Given the description of an element on the screen output the (x, y) to click on. 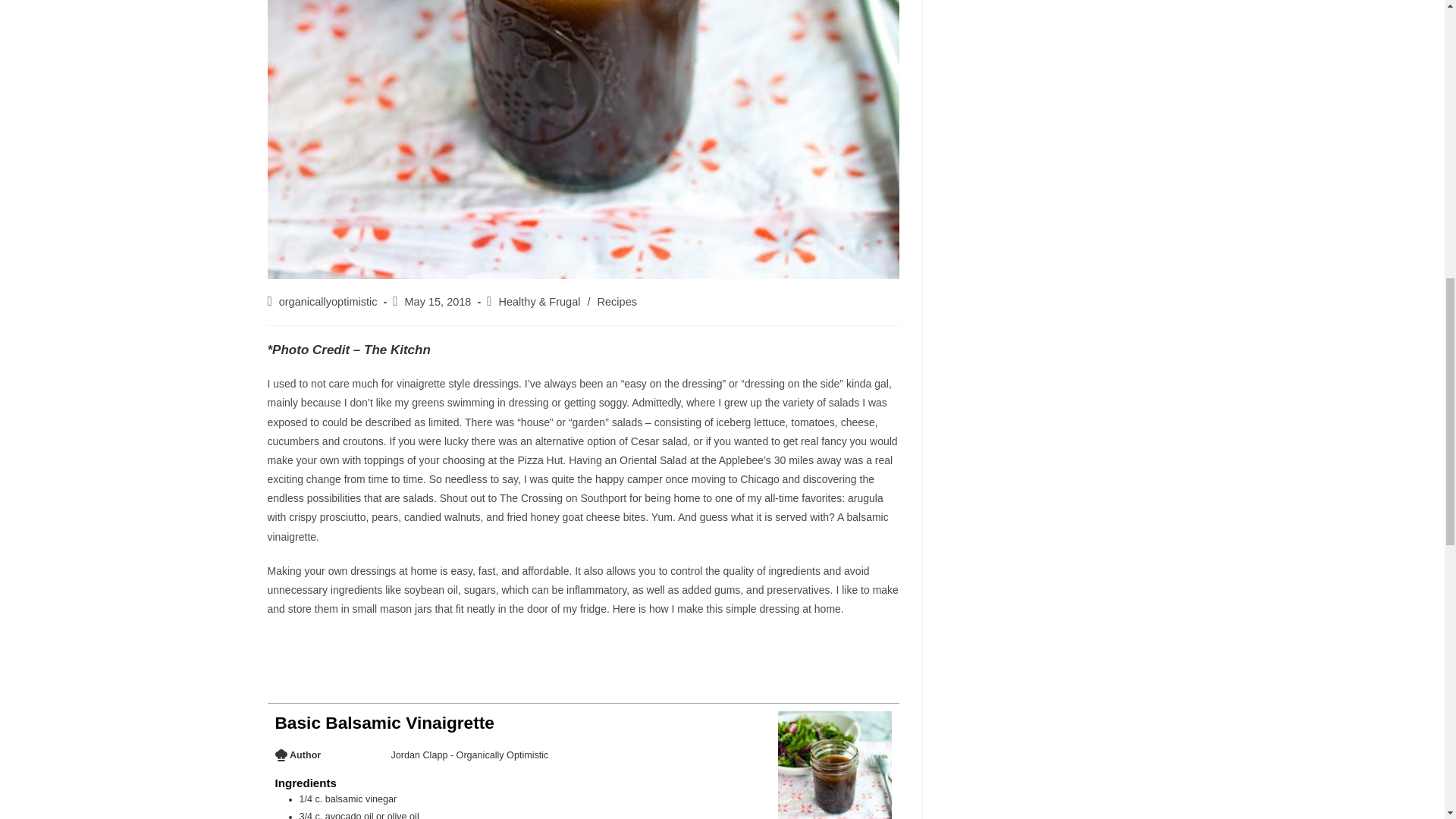
Posts by organicallyoptimistic (328, 301)
organicallyoptimistic (328, 301)
Recipes (616, 301)
